Given the description of an element on the screen output the (x, y) to click on. 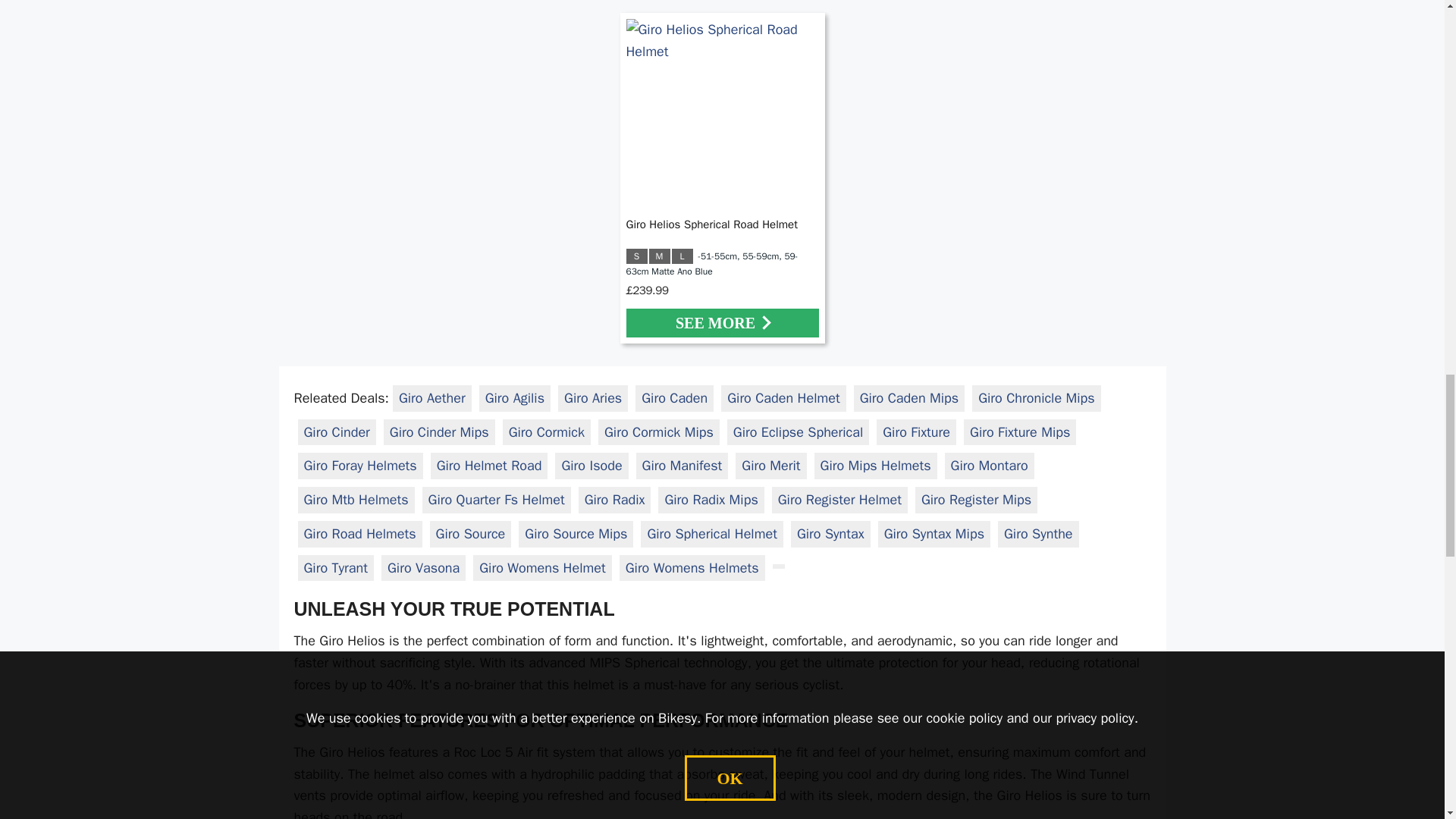
Giro Cinder (335, 431)
Giro Caden Helmet (783, 397)
Giro Fixture (916, 431)
Giro Aries (592, 397)
Giro Aether (431, 397)
Giro Caden (674, 397)
Giro Cinder Mips (439, 431)
Giro Chronicle Mips (1036, 397)
Giro Cormick (546, 431)
Giro Caden Mips (909, 397)
Giro Agilis (514, 397)
Giro Eclipse Spherical (798, 431)
Giro Cormick Mips (658, 431)
